Given the description of an element on the screen output the (x, y) to click on. 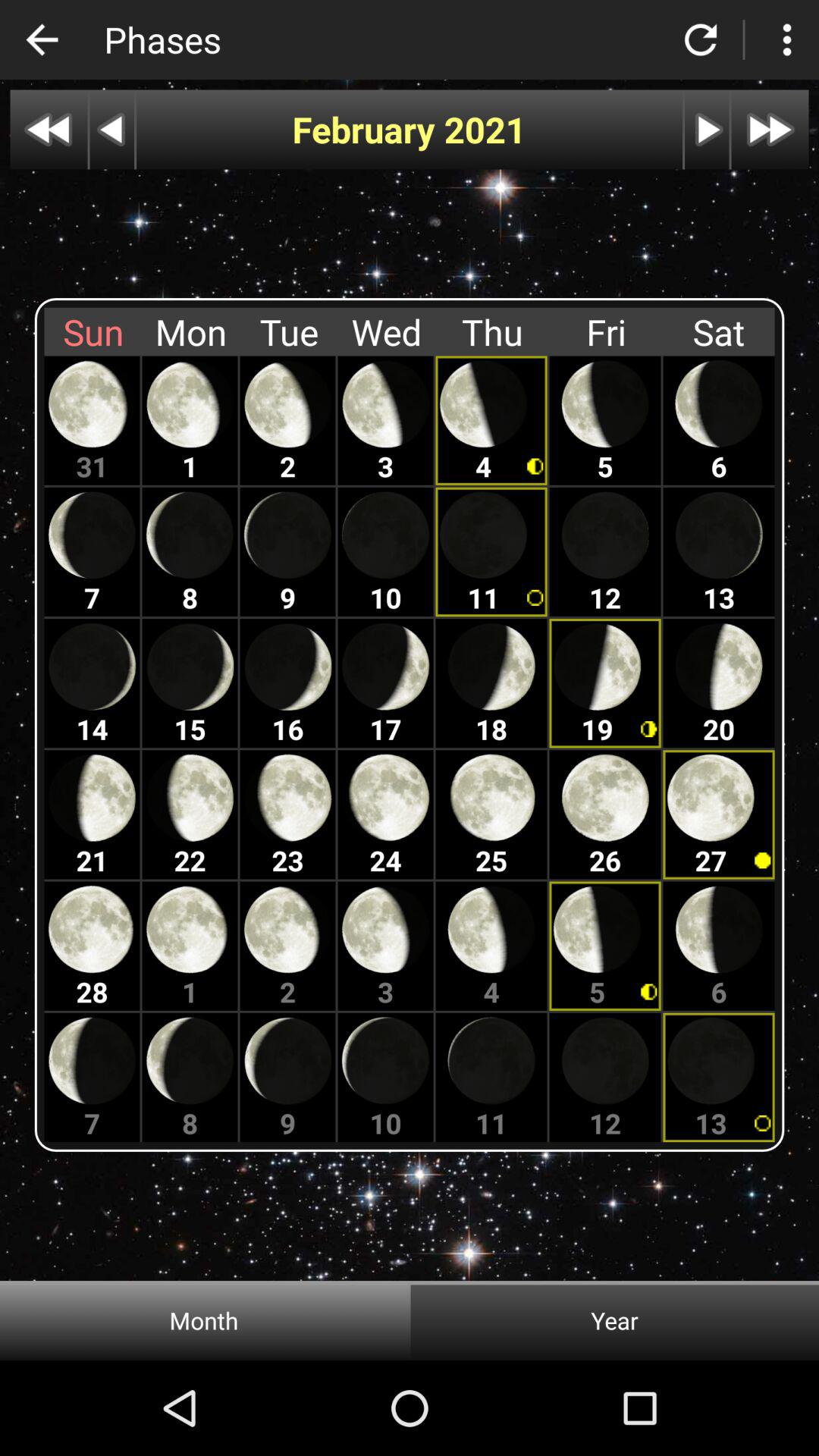
next page (769, 129)
